Given the description of an element on the screen output the (x, y) to click on. 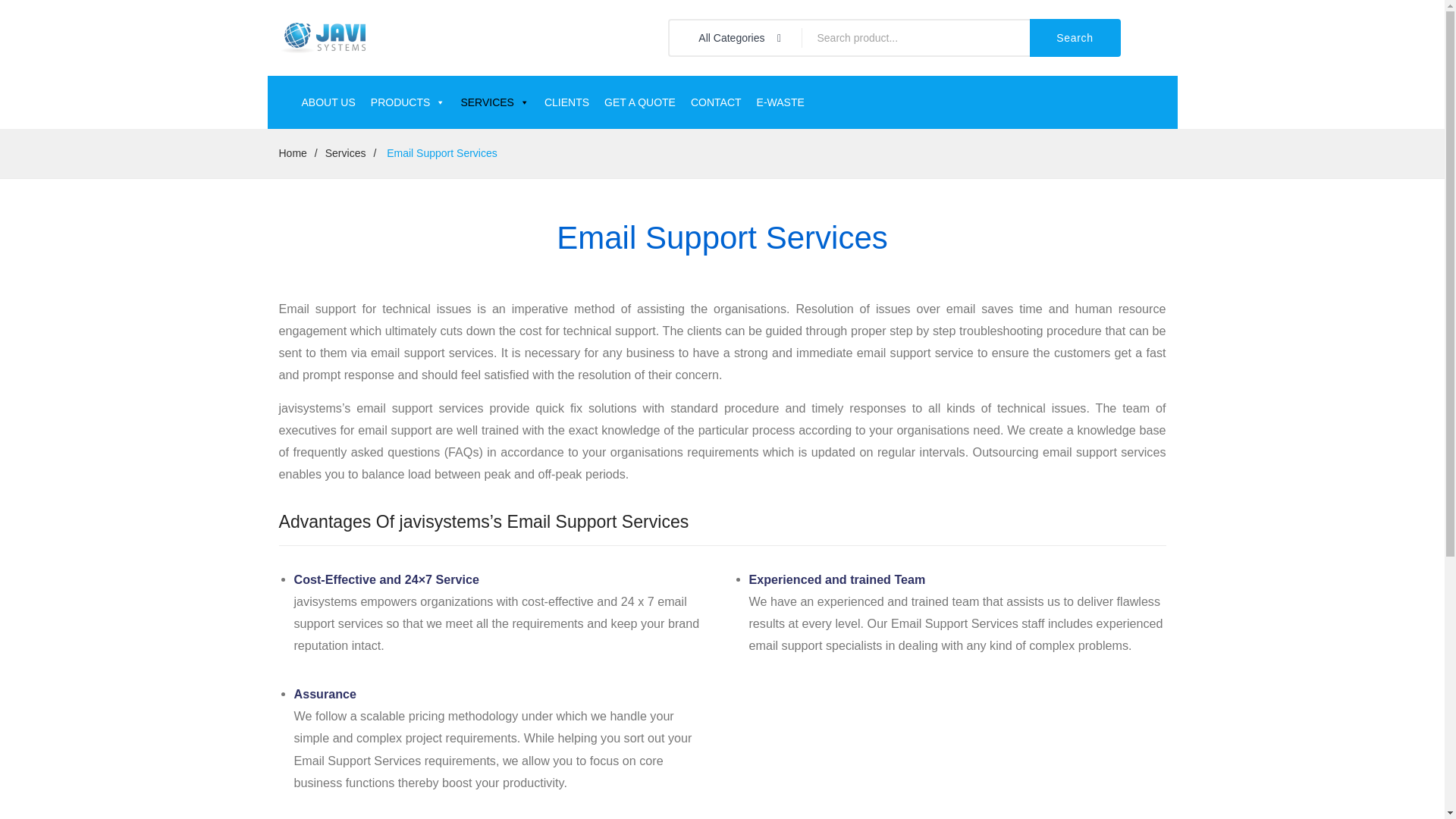
SERVICES (494, 102)
JaviSystems (322, 37)
Email Support Services (440, 152)
PRODUCTS (407, 102)
ABOUT US (328, 102)
Services (345, 152)
Search (1075, 37)
